Given the description of an element on the screen output the (x, y) to click on. 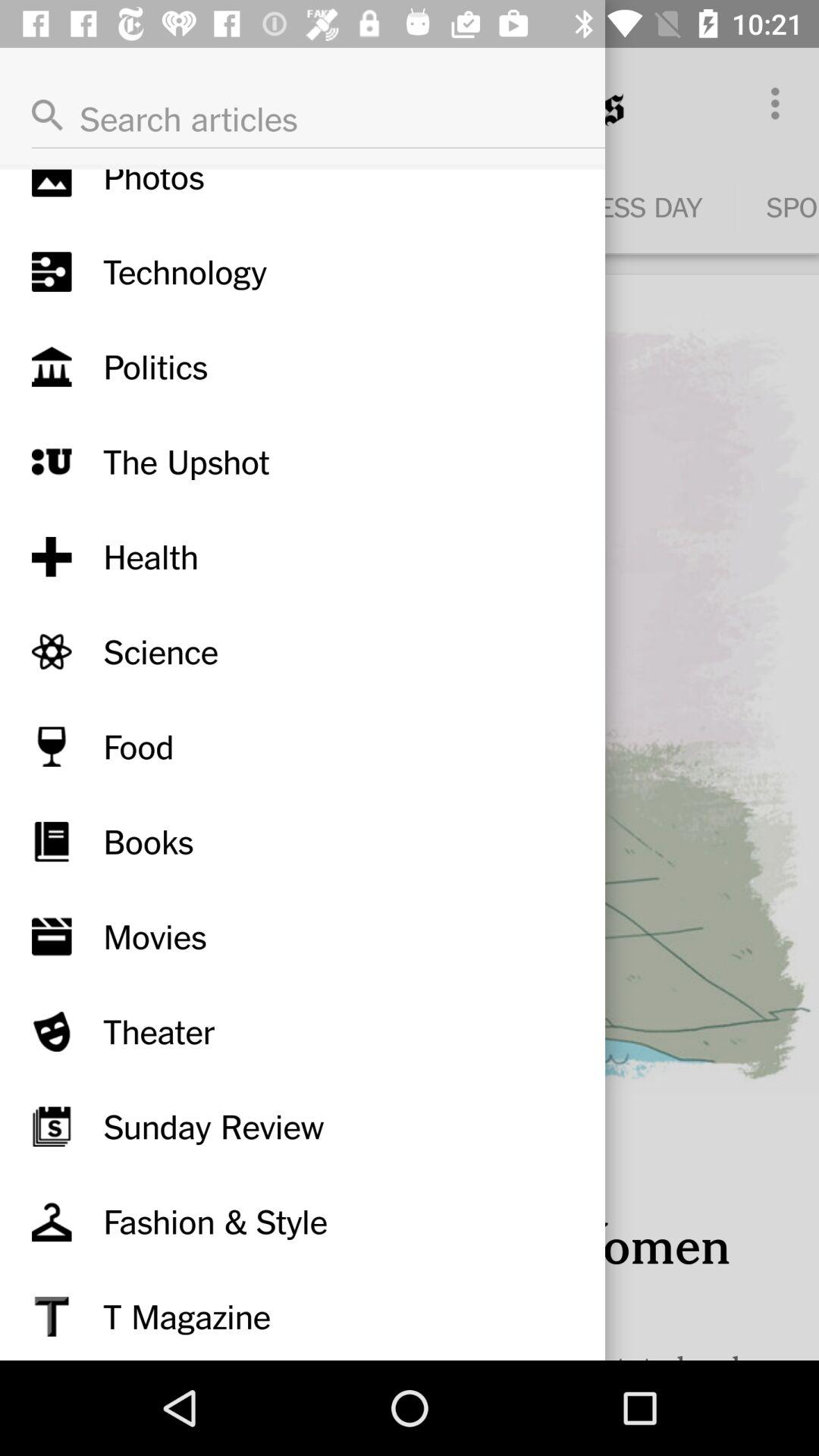
move to the icon left to photos (51, 183)
click on the last icon from bottom left corner (51, 1316)
